Given the description of an element on the screen output the (x, y) to click on. 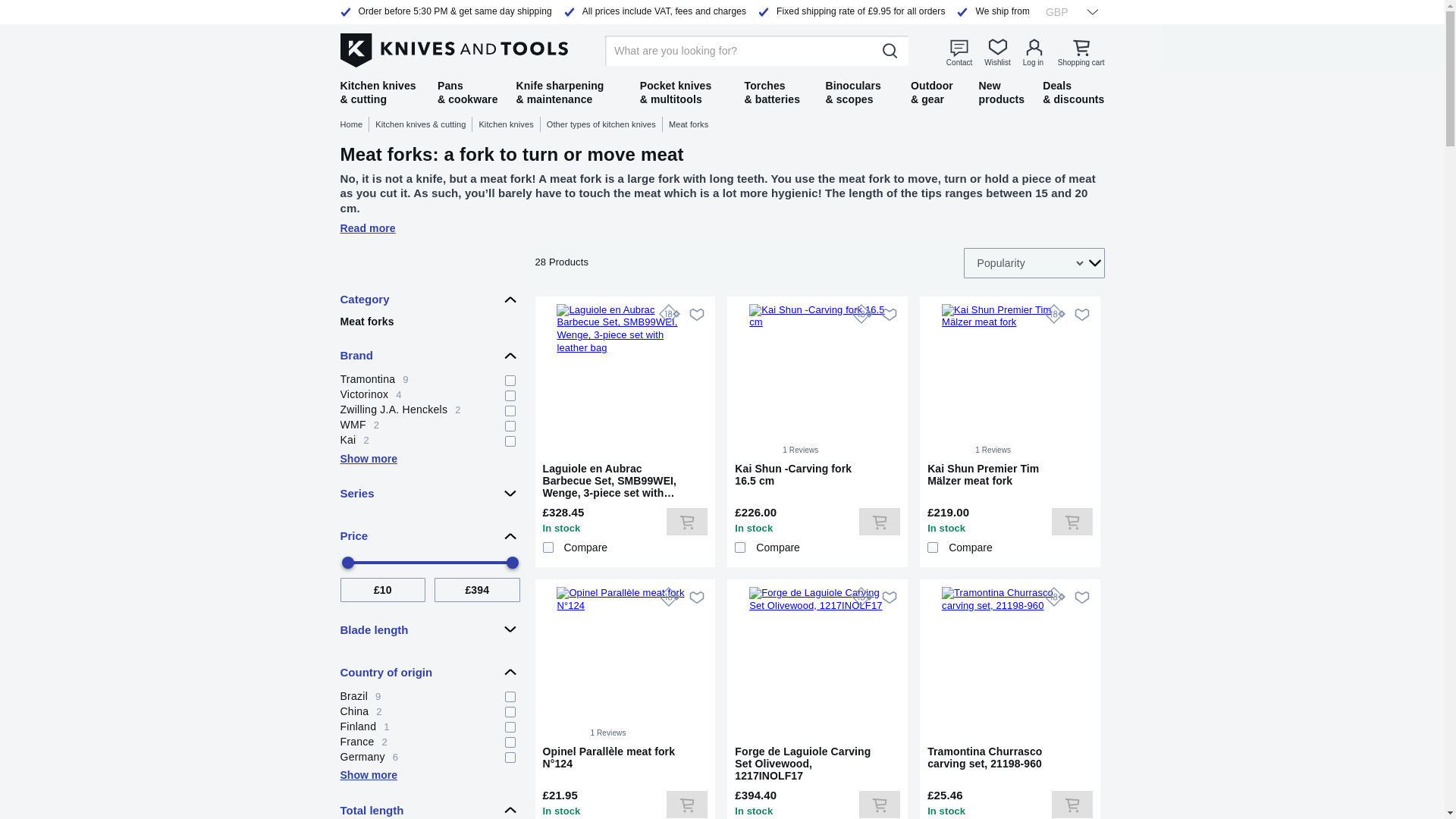
New products (29, 215)
Category (1083, 91)
